Given the description of an element on the screen output the (x, y) to click on. 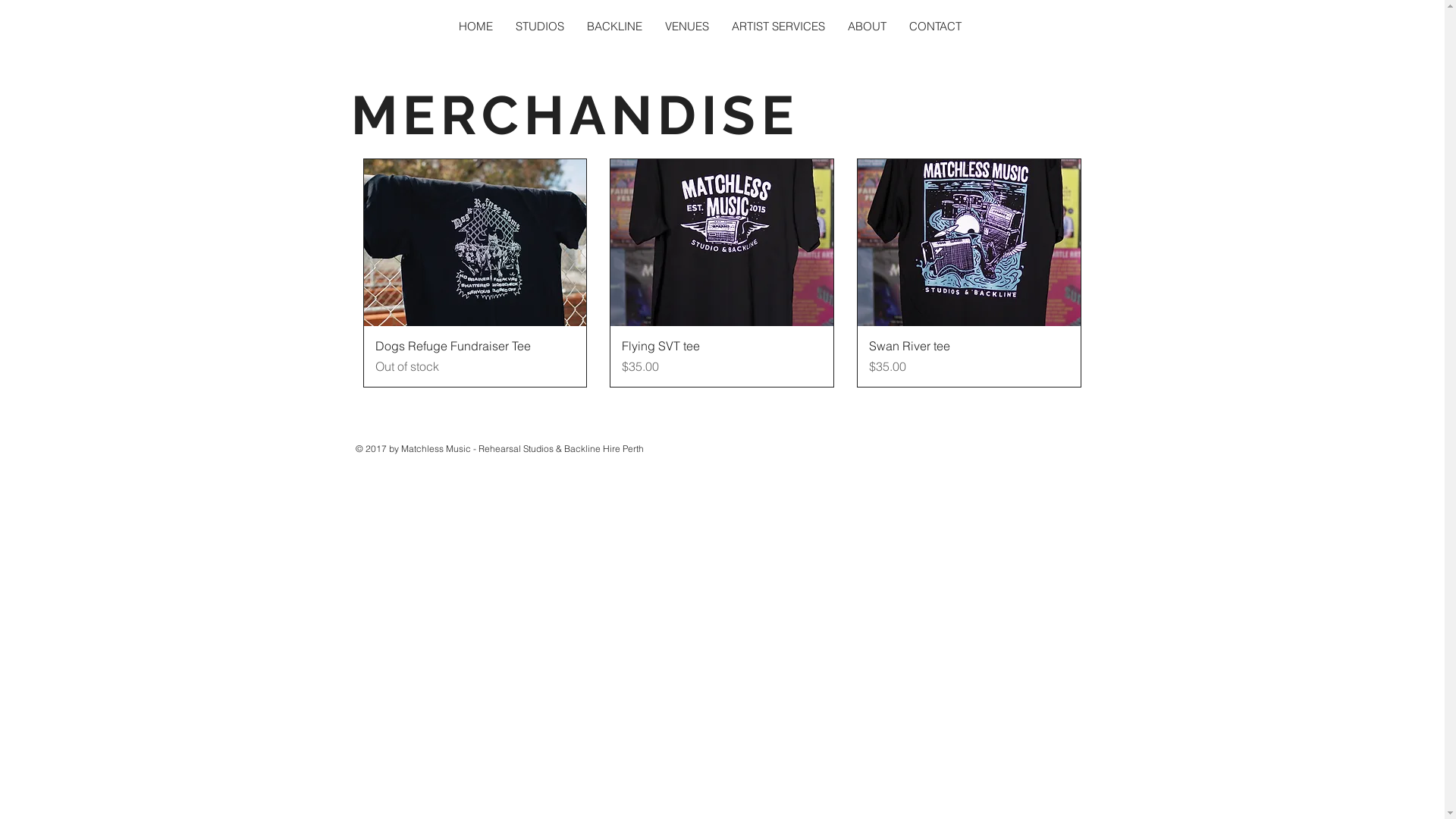
STUDIOS Element type: text (538, 25)
ARTIST SERVICES Element type: text (778, 25)
HOME Element type: text (475, 25)
CONTACT Element type: text (934, 25)
Facebook Like Element type: hover (764, 455)
Swan River tee
Price
$35.00 Element type: text (969, 356)
Flying SVT tee
Price
$35.00 Element type: text (721, 356)
Dogs Refuge Fundraiser Tee
Out of stock Element type: text (474, 356)
BACKLINE Element type: text (613, 25)
ABOUT Element type: text (866, 25)
VENUES Element type: text (686, 25)
